Given the description of an element on the screen output the (x, y) to click on. 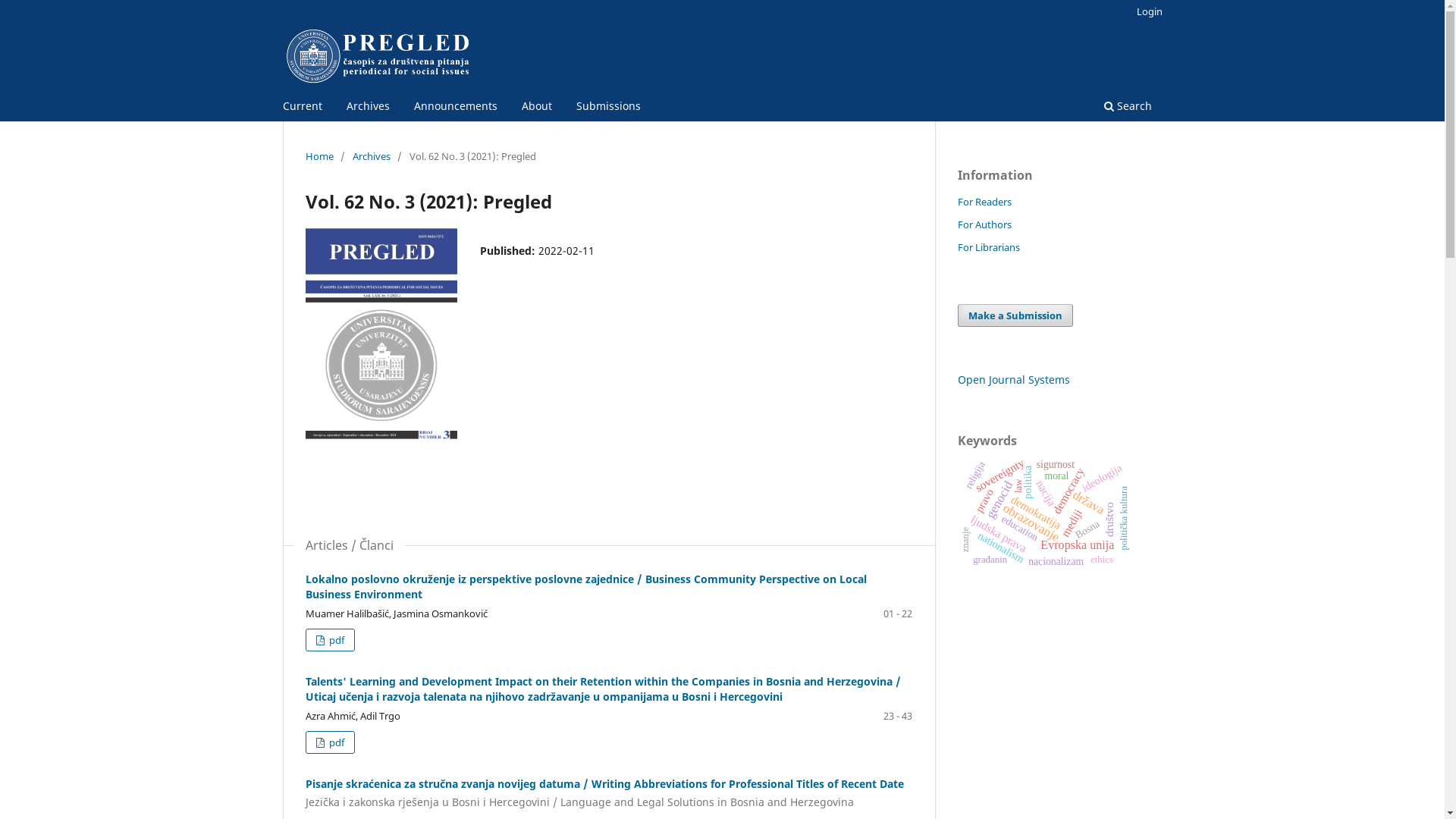
For Librarians Element type: text (988, 247)
About Element type: text (535, 107)
Archives Element type: text (370, 155)
Open Journal Systems Element type: text (1013, 379)
Search Element type: text (1127, 107)
For Authors Element type: text (983, 224)
Submissions Element type: text (607, 107)
Make a Submission Element type: text (1014, 315)
pdf Element type: text (329, 639)
Home Element type: text (318, 155)
Archives Element type: text (368, 107)
Announcements Element type: text (454, 107)
pdf Element type: text (329, 742)
Login Element type: text (1149, 11)
For Readers Element type: text (983, 201)
Current Element type: text (302, 107)
